Given the description of an element on the screen output the (x, y) to click on. 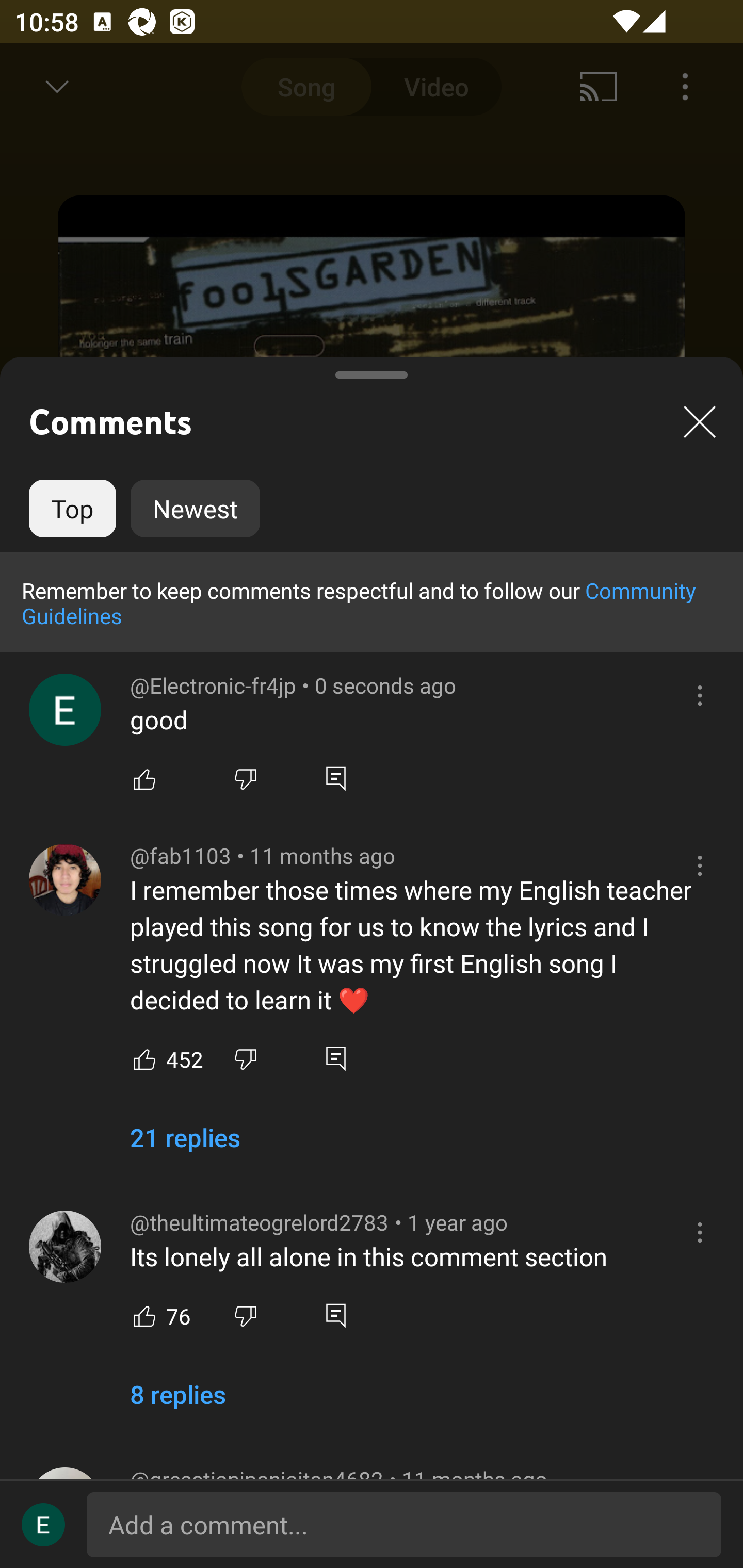
Minimize (57, 86)
Cast. Disconnected (598, 86)
Menu (684, 86)
Close (699, 421)
Top (71, 508)
Newest (195, 508)
Action menu (699, 695)
@Electronic-fr4jp (64, 710)
Like this comment along with 0 other people (144, 778)
Dislike this comment (245, 778)
Reply (335, 778)
Action menu (699, 865)
@fab1103 (64, 879)
Like this comment along with 452 other people (144, 1059)
Dislike this comment (245, 1059)
Reply (335, 1059)
View 21 total replies (185, 1145)
Action menu (699, 1231)
@theultimateogrelord2783 (64, 1246)
Like this comment along with 76 other people (144, 1316)
Dislike this comment (245, 1316)
Reply (335, 1316)
View 8 total replies (177, 1402)
